Given the description of an element on the screen output the (x, y) to click on. 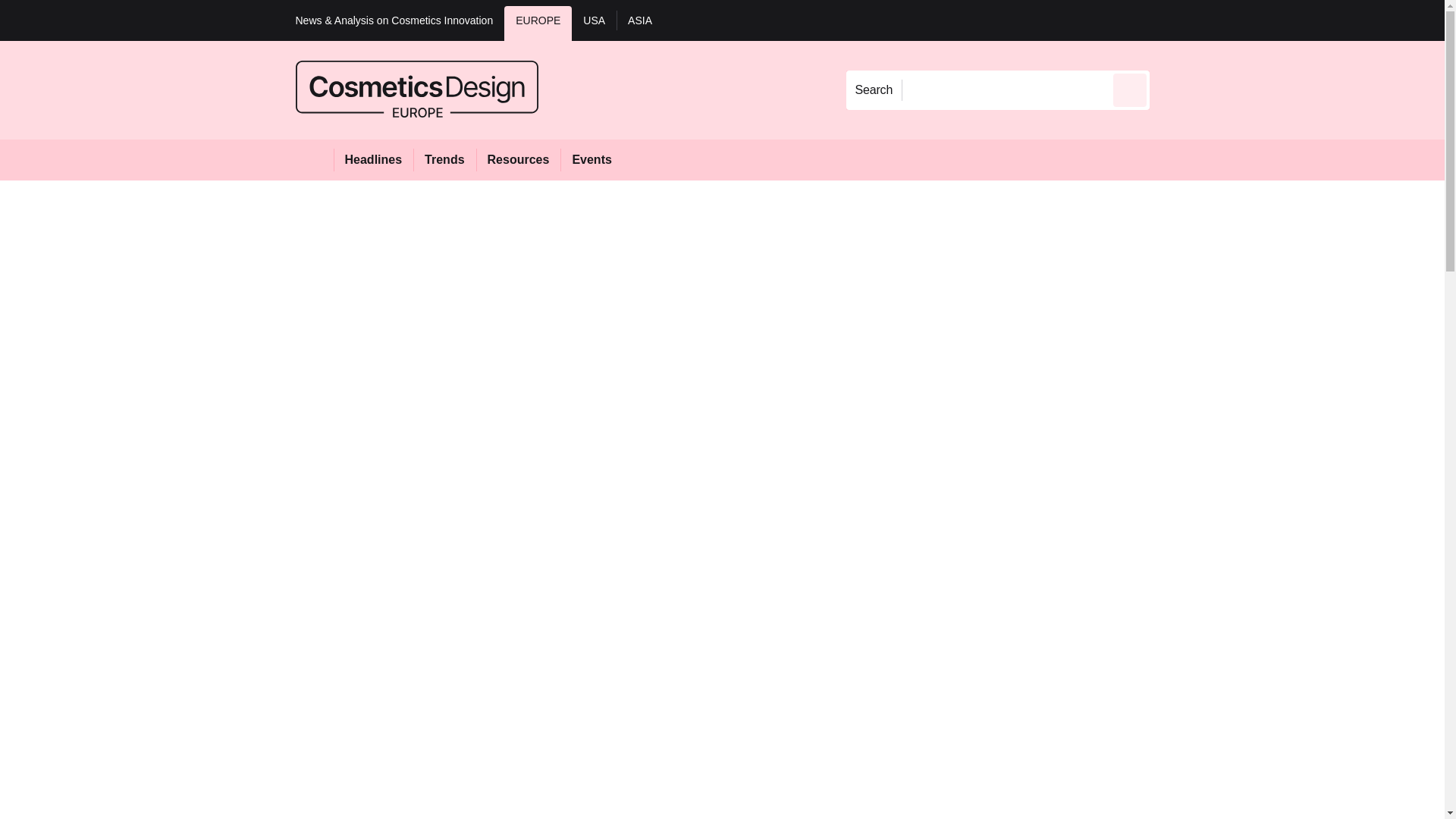
Send (1129, 89)
Trends (444, 159)
Sign in (1171, 20)
USA (593, 22)
Send (1129, 90)
ASIA (639, 22)
Sign out (1174, 20)
Home (314, 159)
REGISTER (1250, 20)
My account (1256, 20)
